Given the description of an element on the screen output the (x, y) to click on. 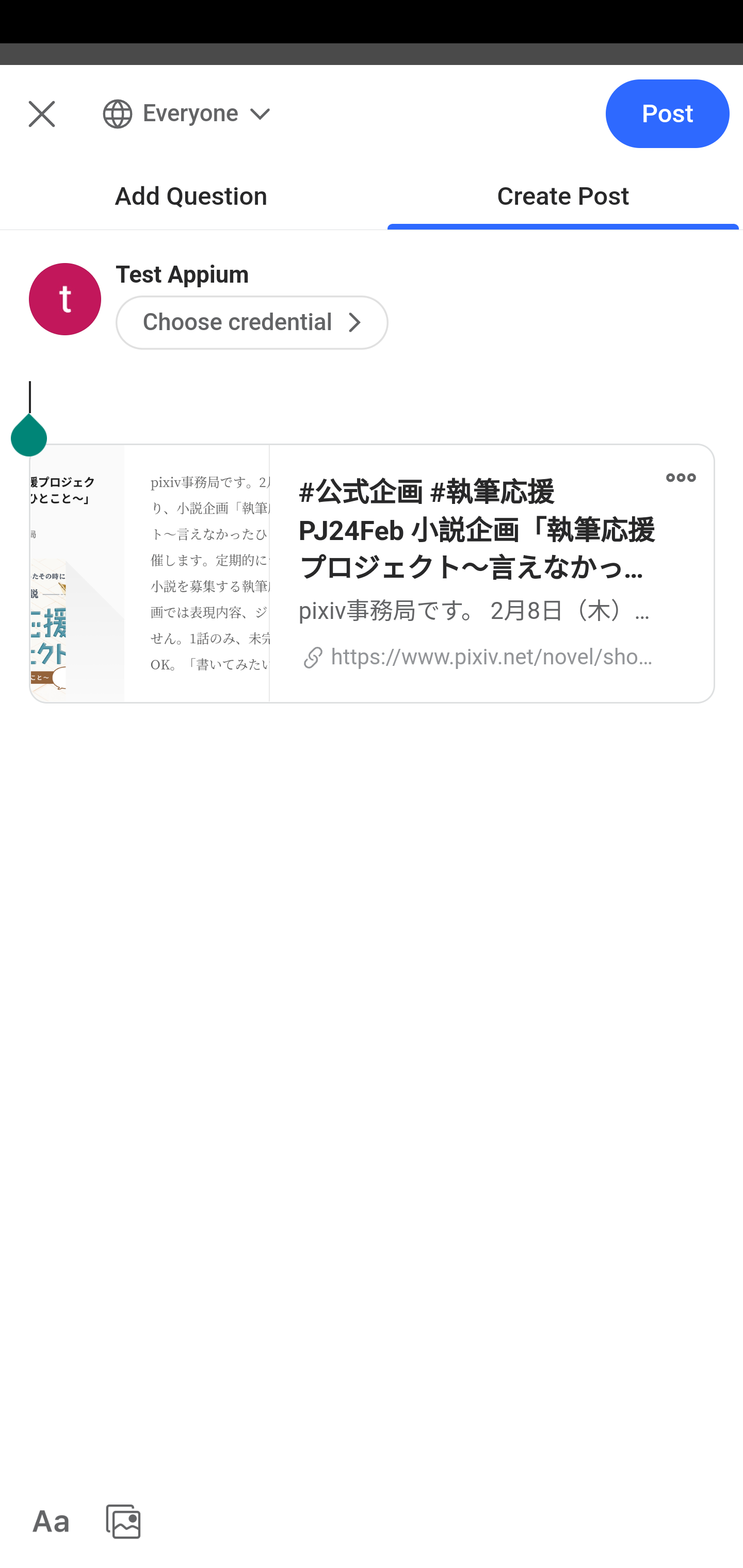
Me Home Search Add (371, 125)
What do you want to ask or share? (408, 216)
